Given the description of an element on the screen output the (x, y) to click on. 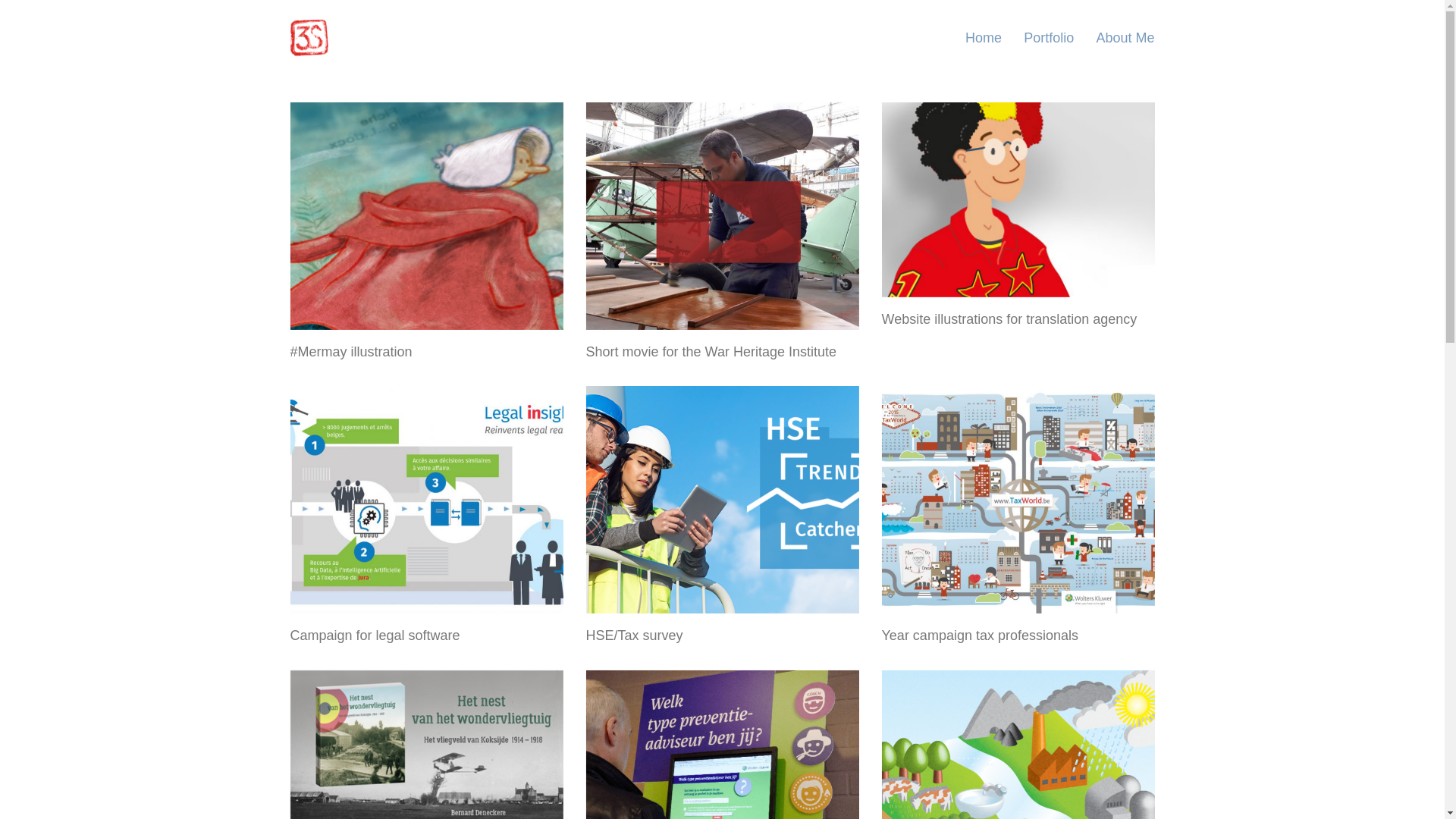
HSE/Tax survey Element type: text (633, 635)
Year campaign tax professionals Element type: text (979, 635)
Short movie for the War Heritage Institute Element type: text (710, 352)
#Mermay illustration Element type: text (350, 352)
Website illustrations for translation agency Element type: text (1008, 319)
Portfolio Element type: text (1048, 37)
Campaign for legal software Element type: text (374, 635)
About Me Element type: text (1124, 37)
Home Element type: text (983, 37)
